Given the description of an element on the screen output the (x, y) to click on. 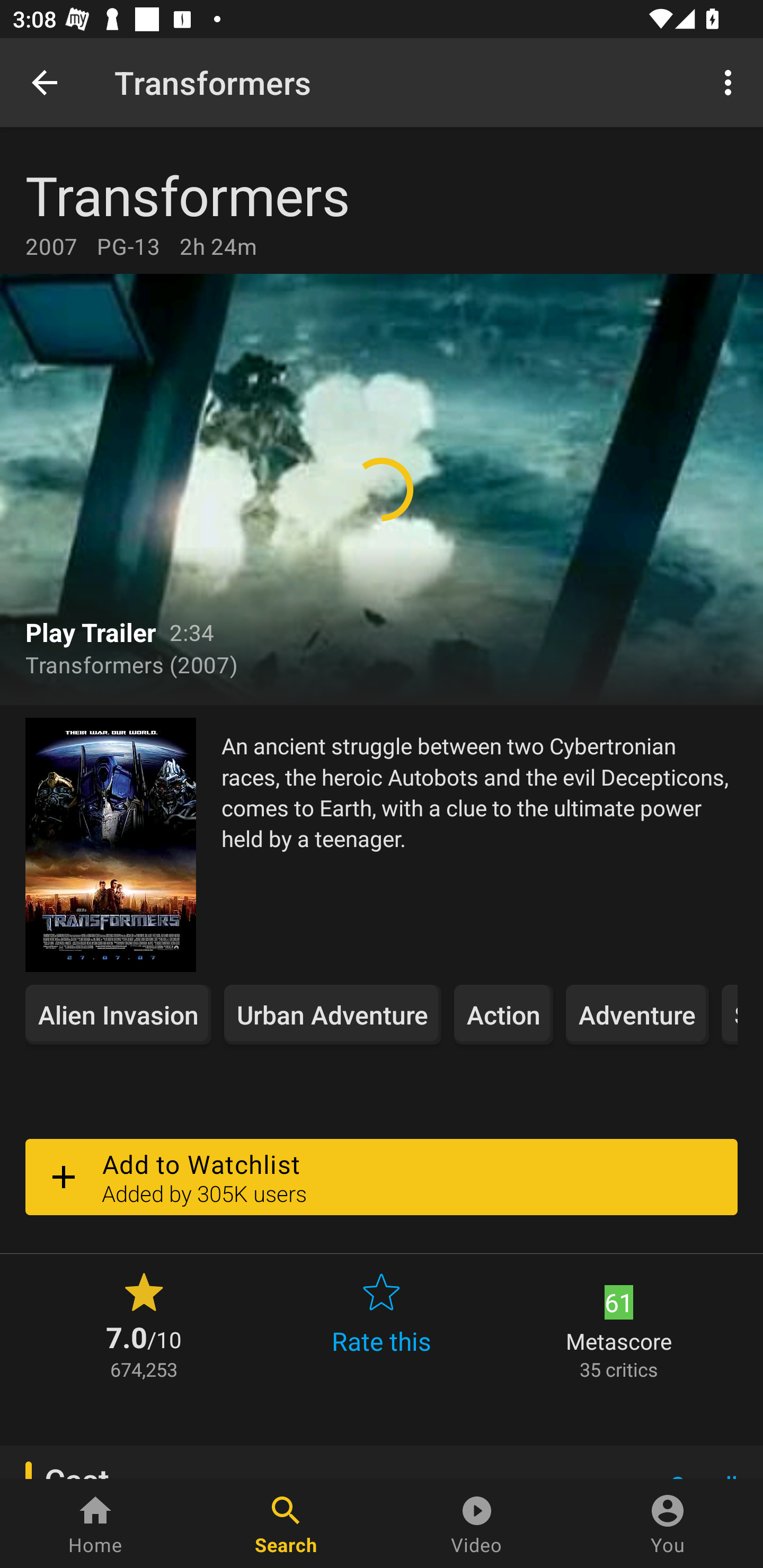
More options (731, 81)
Alien Invasion (118, 1014)
Urban Adventure (332, 1014)
Action (503, 1014)
Adventure (637, 1014)
Add to Watchlist Added by 305K users (381, 1176)
7.0 /10 674,253 (143, 1323)
Rate this (381, 1323)
61 Metascore 35 critics (618, 1323)
Home (95, 1523)
Video (476, 1523)
You (667, 1523)
